Given the description of an element on the screen output the (x, y) to click on. 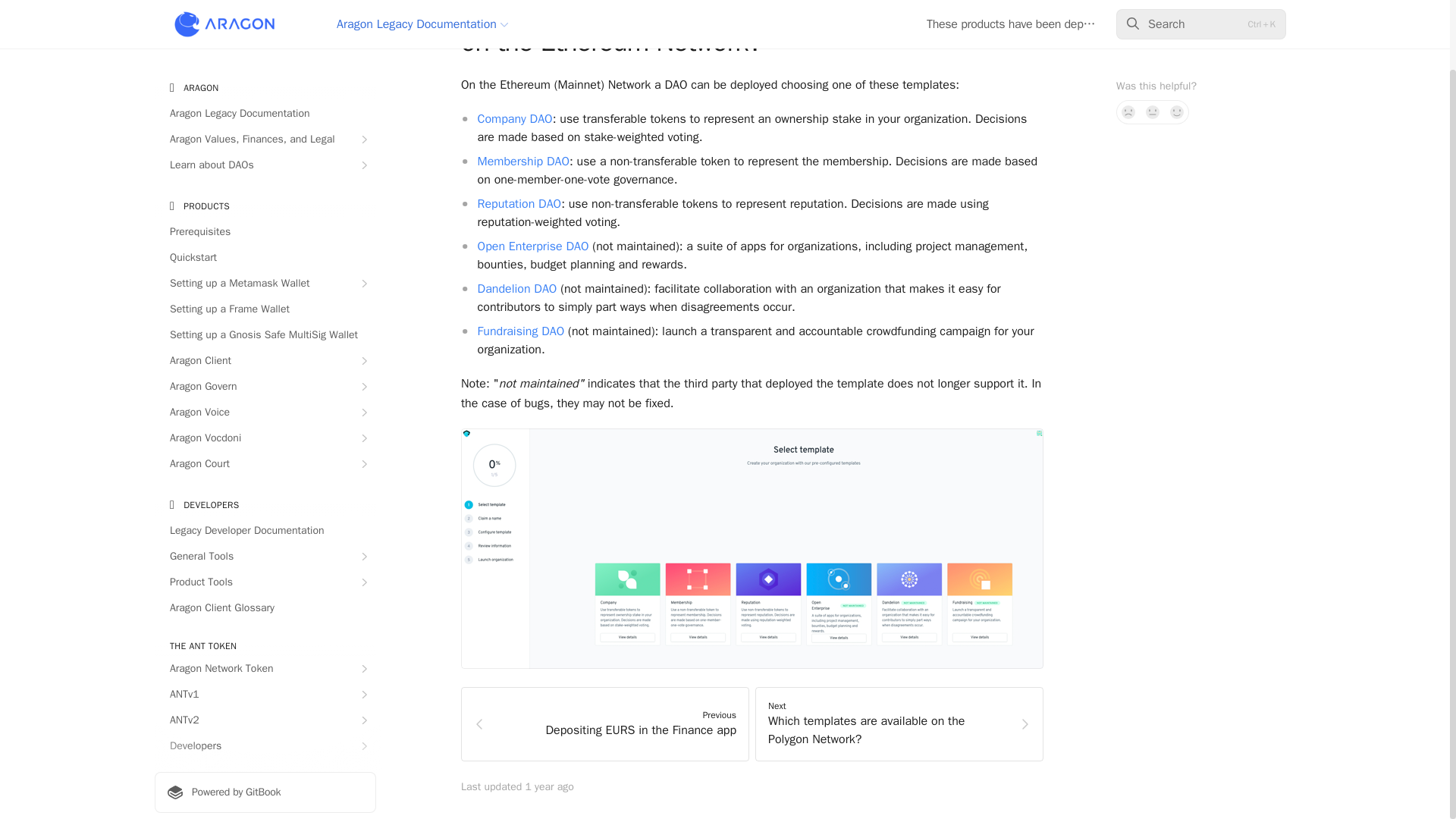
Prerequisites (264, 155)
Setting up a Metamask Wallet (264, 206)
No (1128, 35)
Aragon Values, Finances, and Legal (264, 62)
Quickstart (264, 180)
Learn about DAOs (264, 88)
Yes, it was! (1176, 35)
Not sure (1152, 35)
Aragon Legacy Documentation (264, 37)
Setting up a Frame Wallet (264, 232)
